Given the description of an element on the screen output the (x, y) to click on. 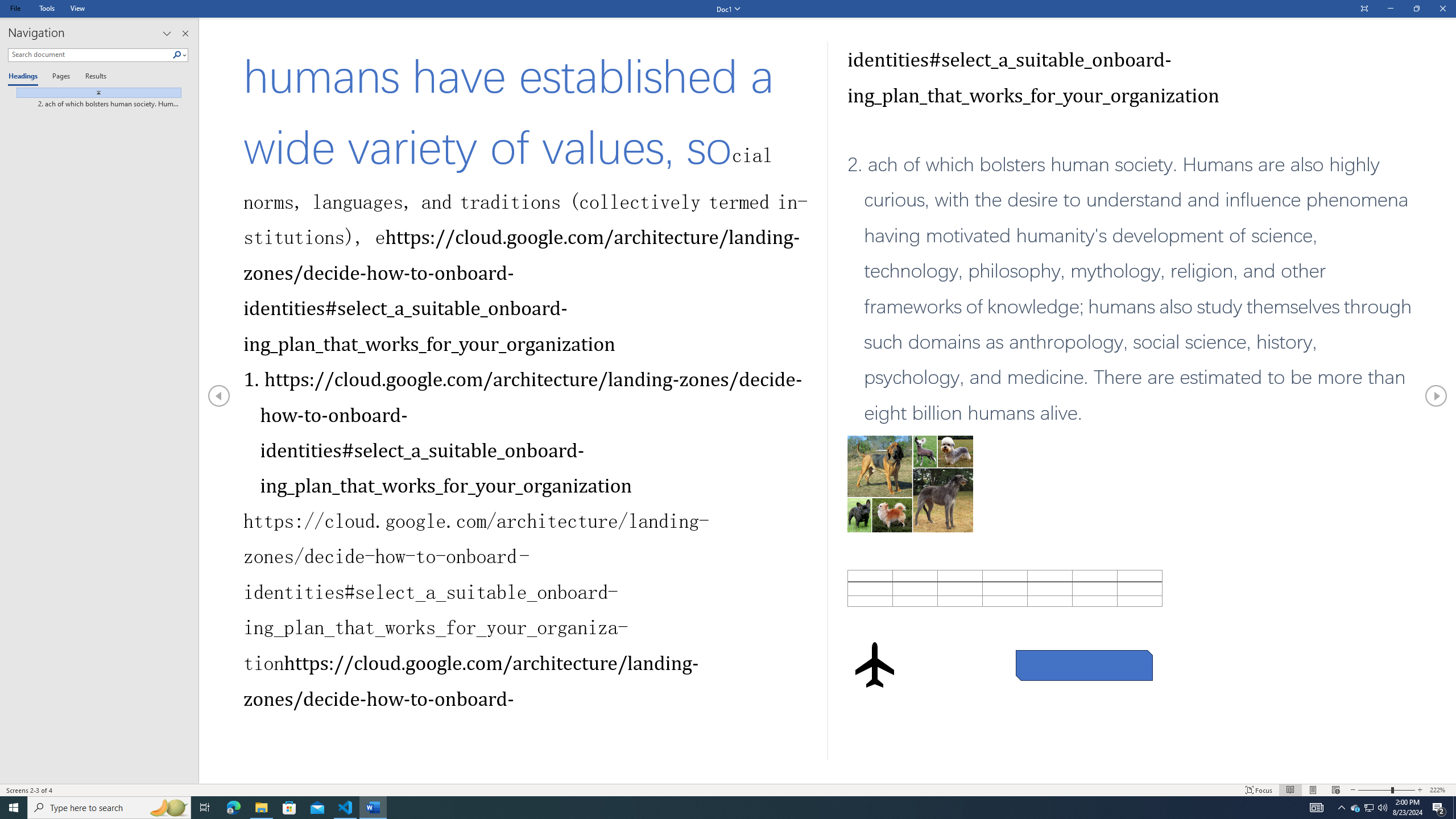
Page Number Screens 2-3 of 4  (29, 790)
Auto-hide Reading Toolbar (1364, 9)
Class: NetUIScrollBar (827, 778)
Decrease Text Size (1353, 790)
